Given the description of an element on the screen output the (x, y) to click on. 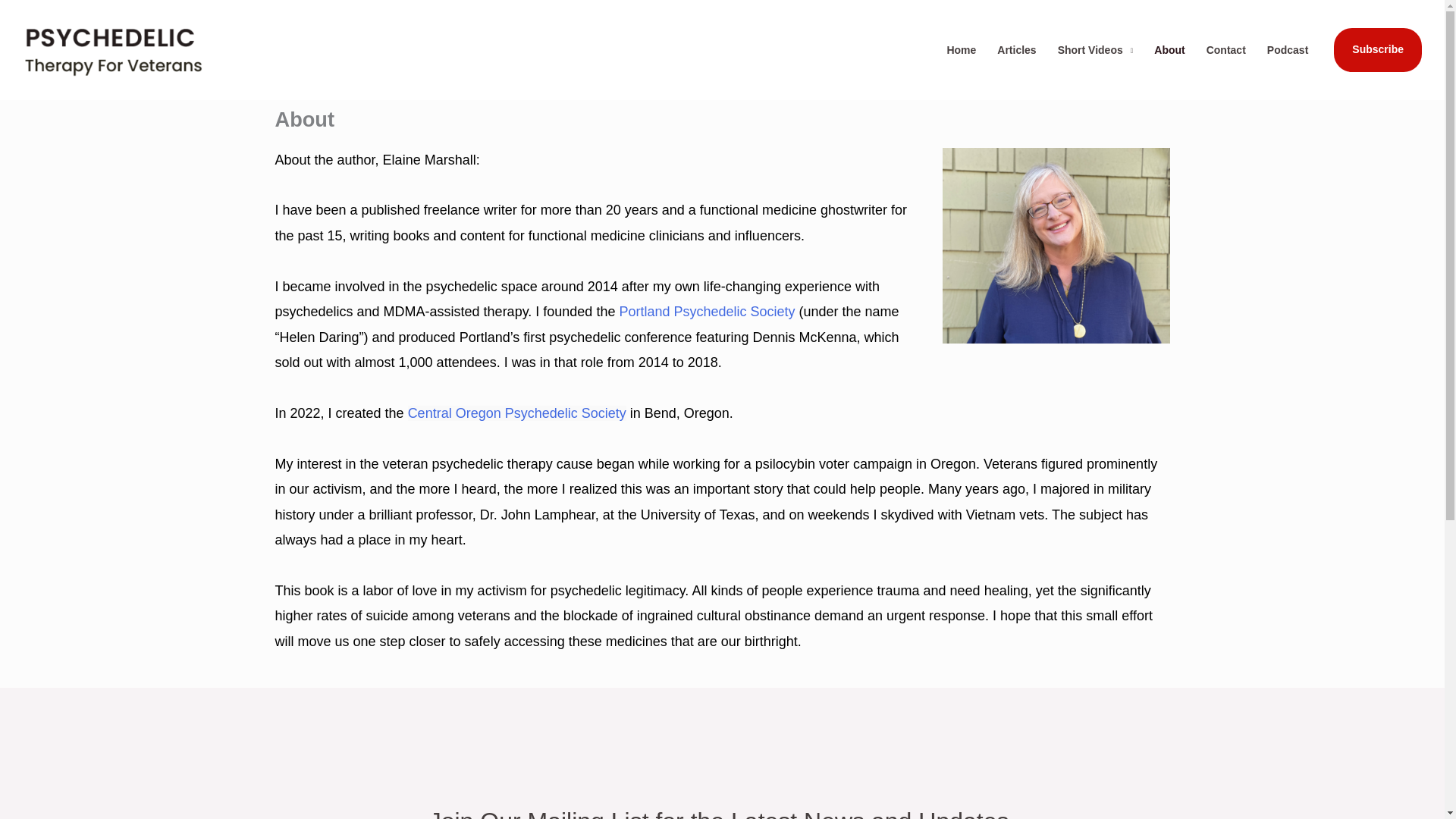
Subscribe (1377, 49)
Home (961, 49)
Short Videos (1095, 49)
Podcast (1287, 49)
Articles (1016, 49)
About (1168, 49)
Contact (1225, 49)
